Given the description of an element on the screen output the (x, y) to click on. 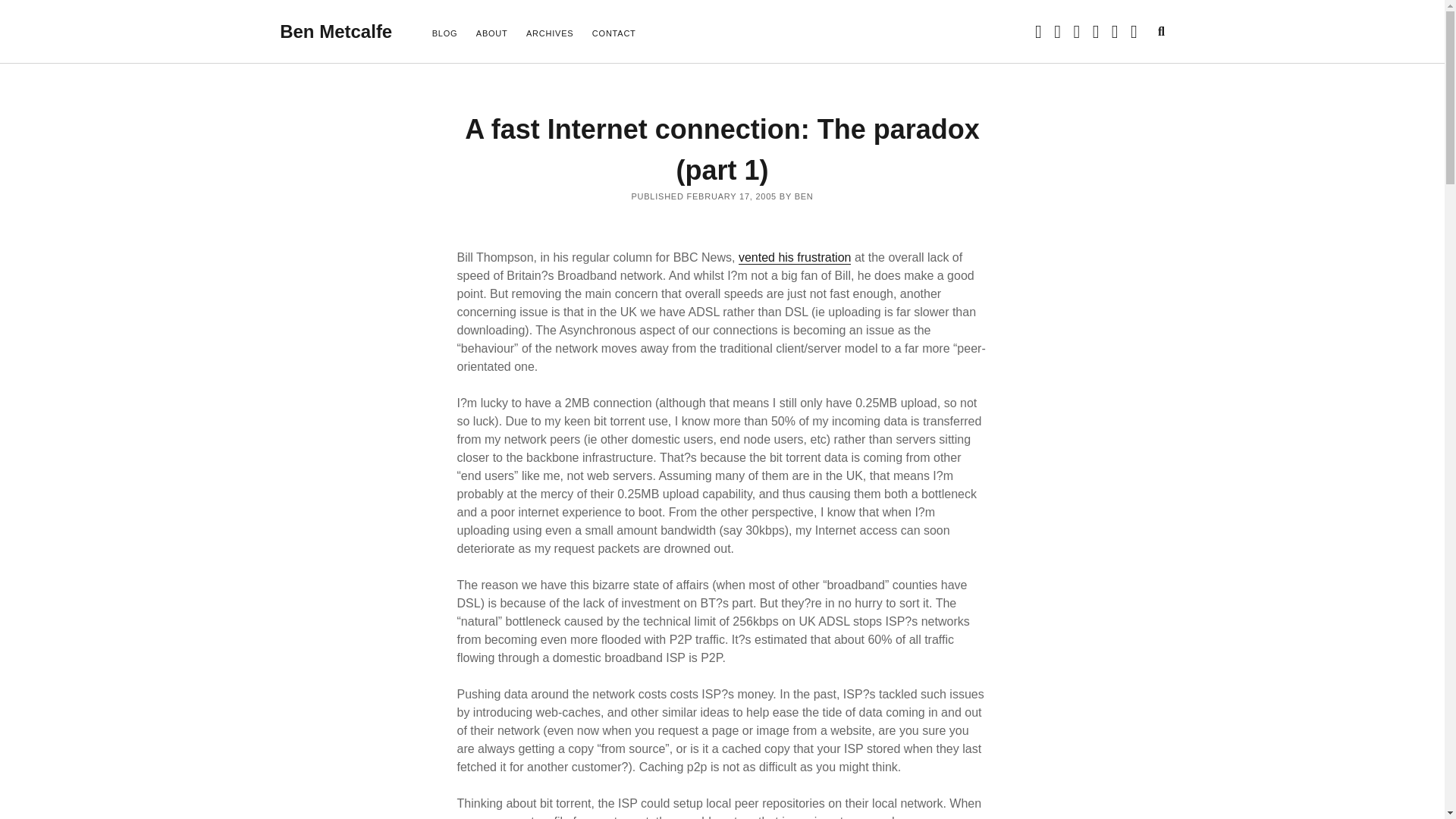
Ben Metcalfe (335, 31)
ARCHIVES (549, 33)
CONTACT (614, 33)
vented his frustration (794, 257)
ABOUT (492, 33)
BLOG (445, 33)
